Given the description of an element on the screen output the (x, y) to click on. 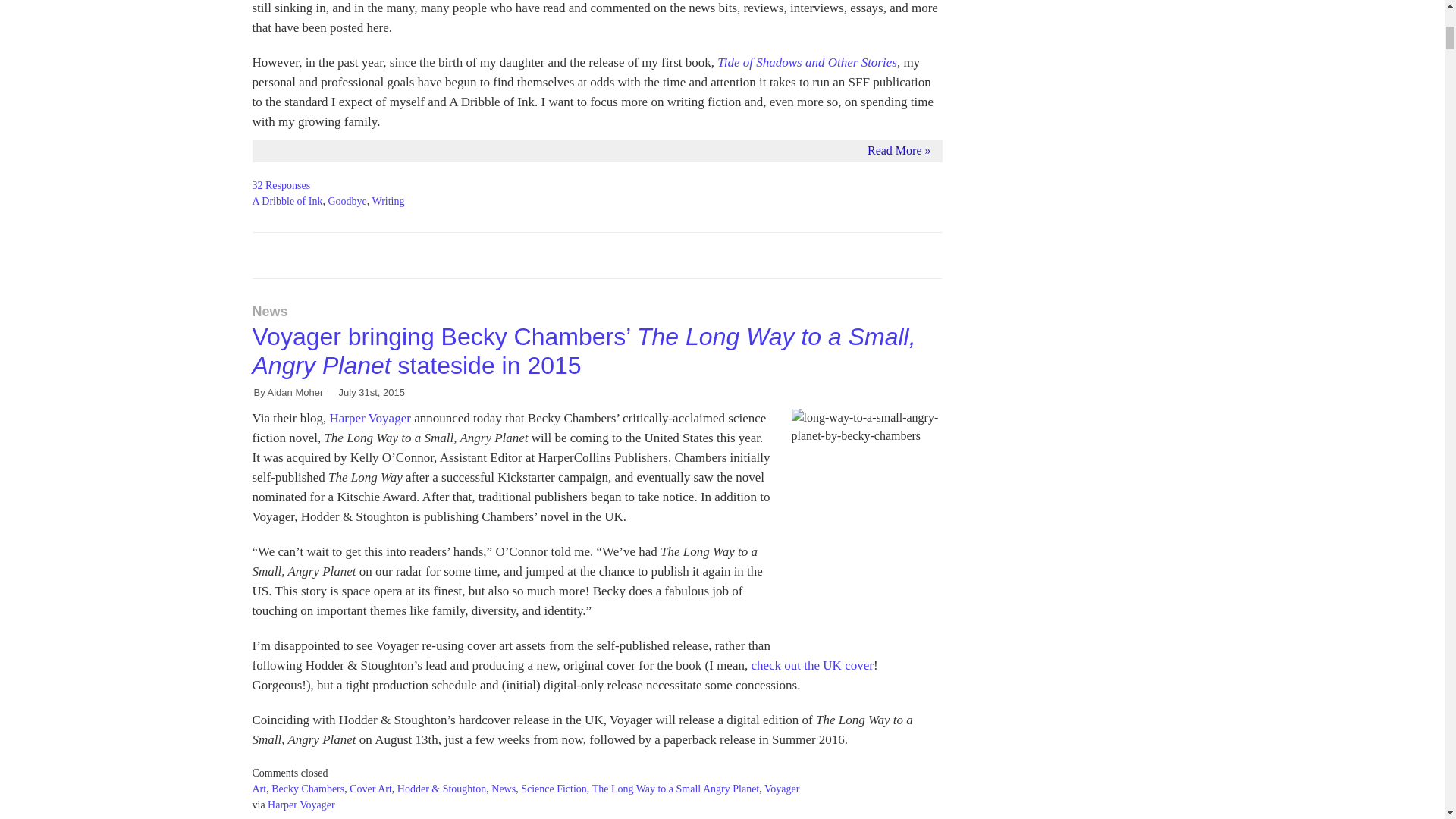
Science Fiction (553, 788)
check out the UK cover (811, 665)
Cover Art (370, 788)
News (268, 310)
Harper Voyager (369, 418)
The Long Way to a Small Angry Planet (676, 788)
News (503, 788)
Goodbye (346, 201)
A Dribble of Ink (286, 201)
Becky Chambers (306, 788)
32 Responses (280, 184)
Art (258, 788)
Writing (388, 201)
Voyager (781, 788)
Harper Voyager (300, 804)
